Given the description of an element on the screen output the (x, y) to click on. 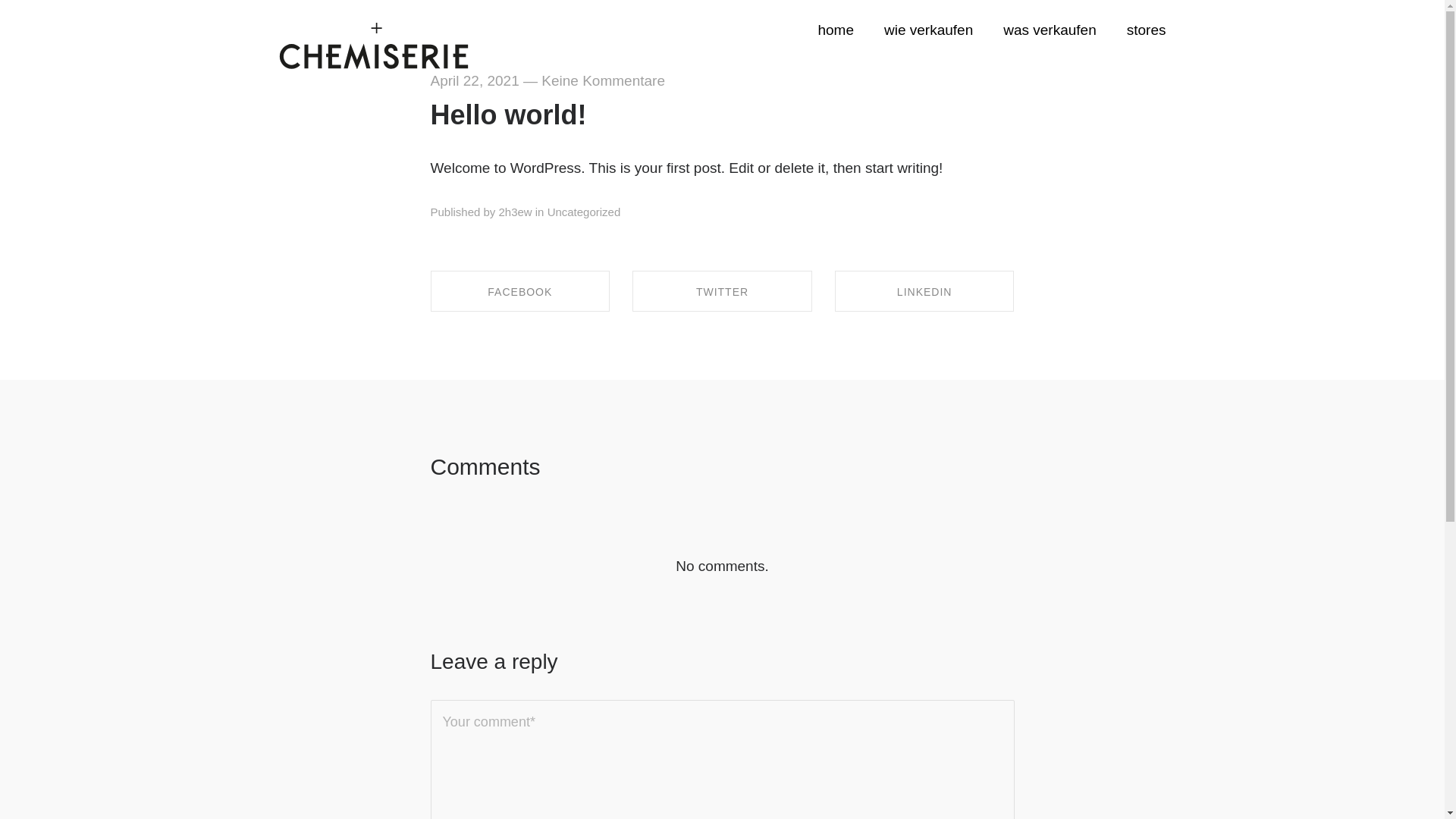
was verkaufen Element type: text (1049, 29)
home Element type: text (843, 29)
Hello world! Element type: text (508, 114)
April 22, 2021 Element type: text (474, 80)
CHEMISERIE + Fashion Recycling Element type: hover (373, 47)
Keine Kommentare Element type: text (603, 80)
stores Element type: text (1138, 29)
wie verkaufen Element type: text (928, 29)
Uncategorized Element type: text (584, 211)
